Given the description of an element on the screen output the (x, y) to click on. 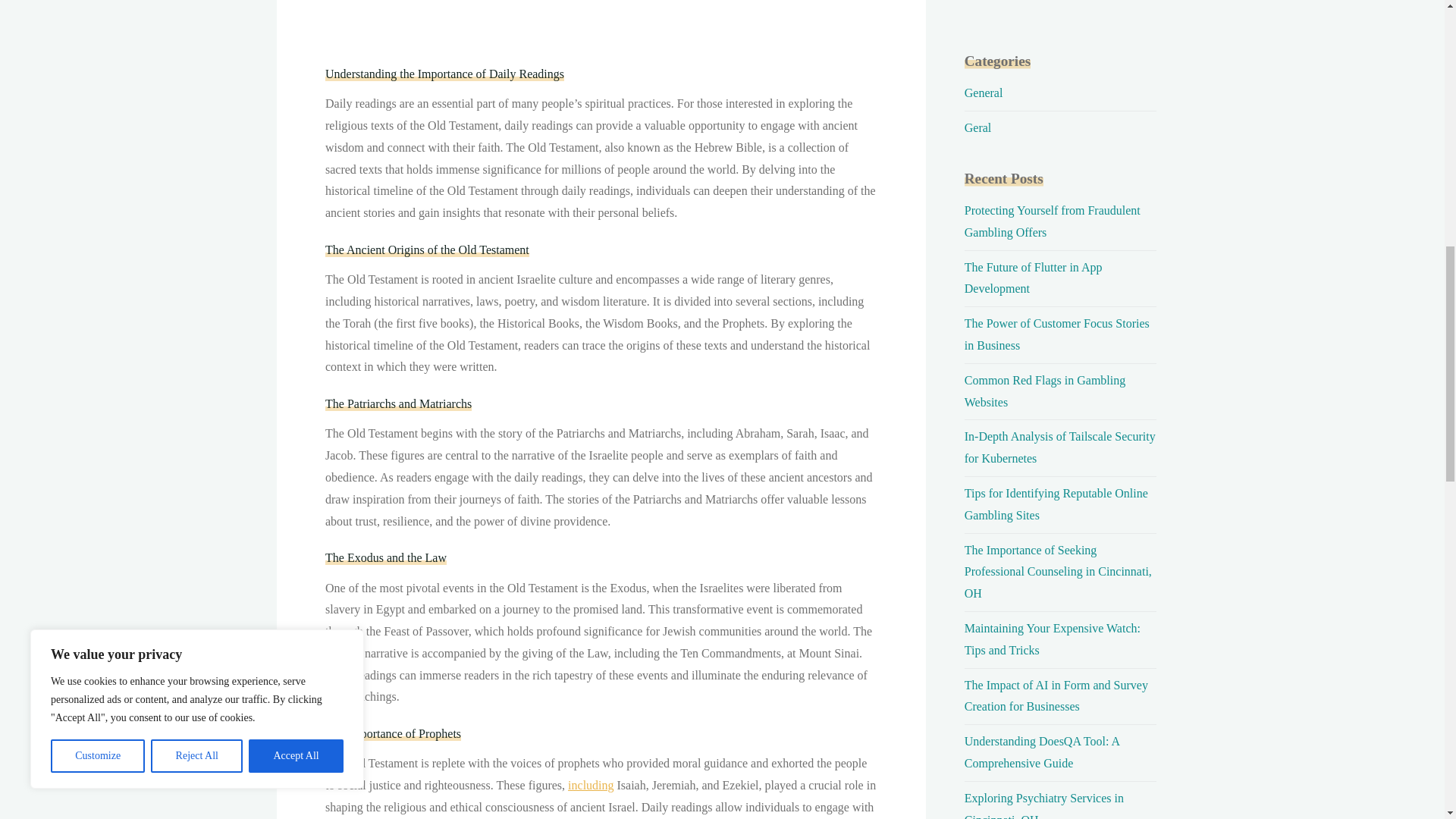
The Power of Customer Focus Stories in Business (1056, 334)
General (983, 92)
Protecting Yourself from Fraudulent Gambling Offers (1051, 221)
Geral (977, 127)
including (589, 784)
The Future of Flutter in App Development (1032, 278)
